Given the description of an element on the screen output the (x, y) to click on. 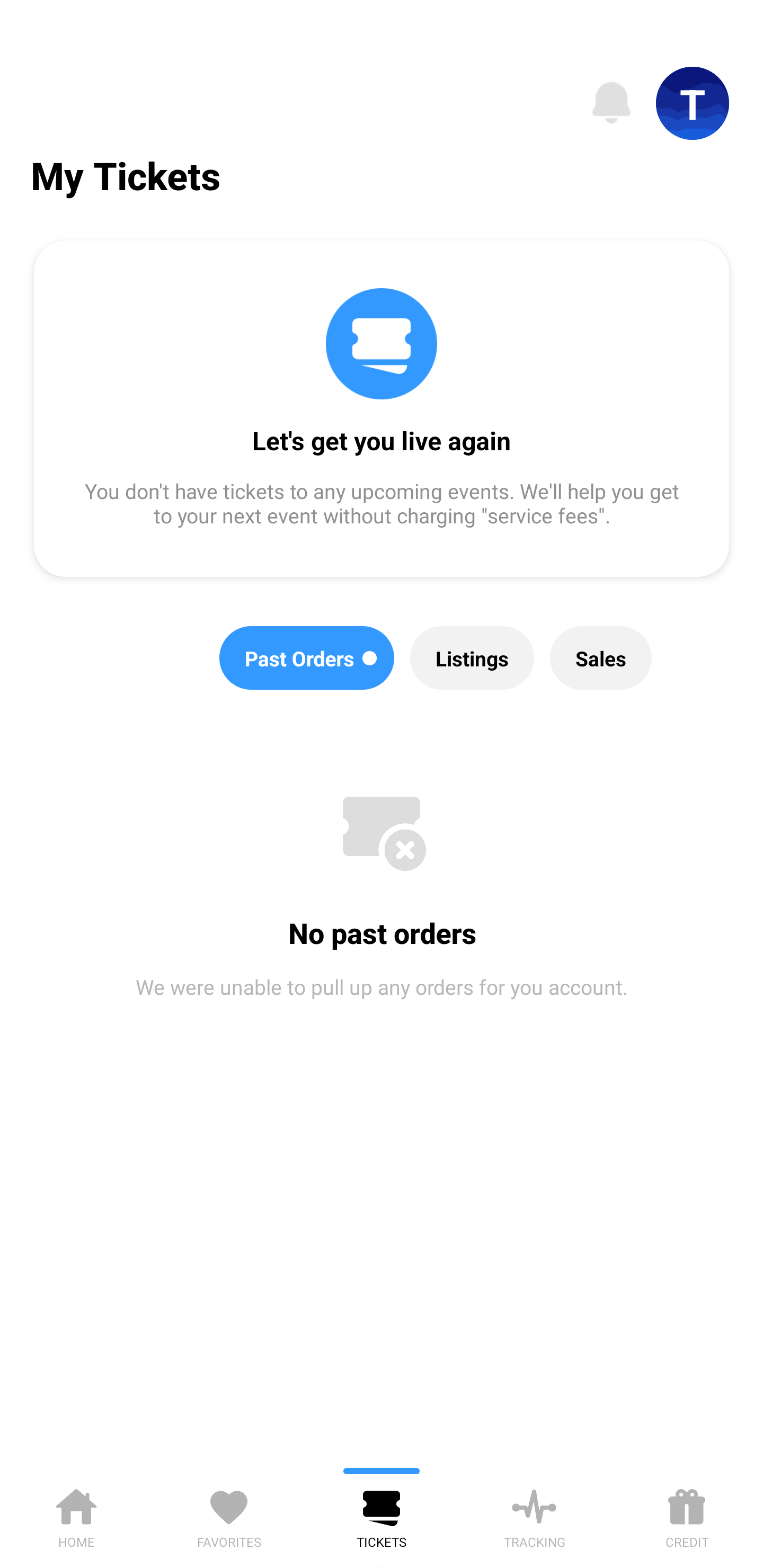
T (692, 103)
Past Orders (306, 657)
Listings (472, 657)
Sales (600, 657)
HOME (76, 1515)
FAVORITES (228, 1515)
TICKETS (381, 1515)
TRACKING (533, 1515)
CREDIT (686, 1515)
